Given the description of an element on the screen output the (x, y) to click on. 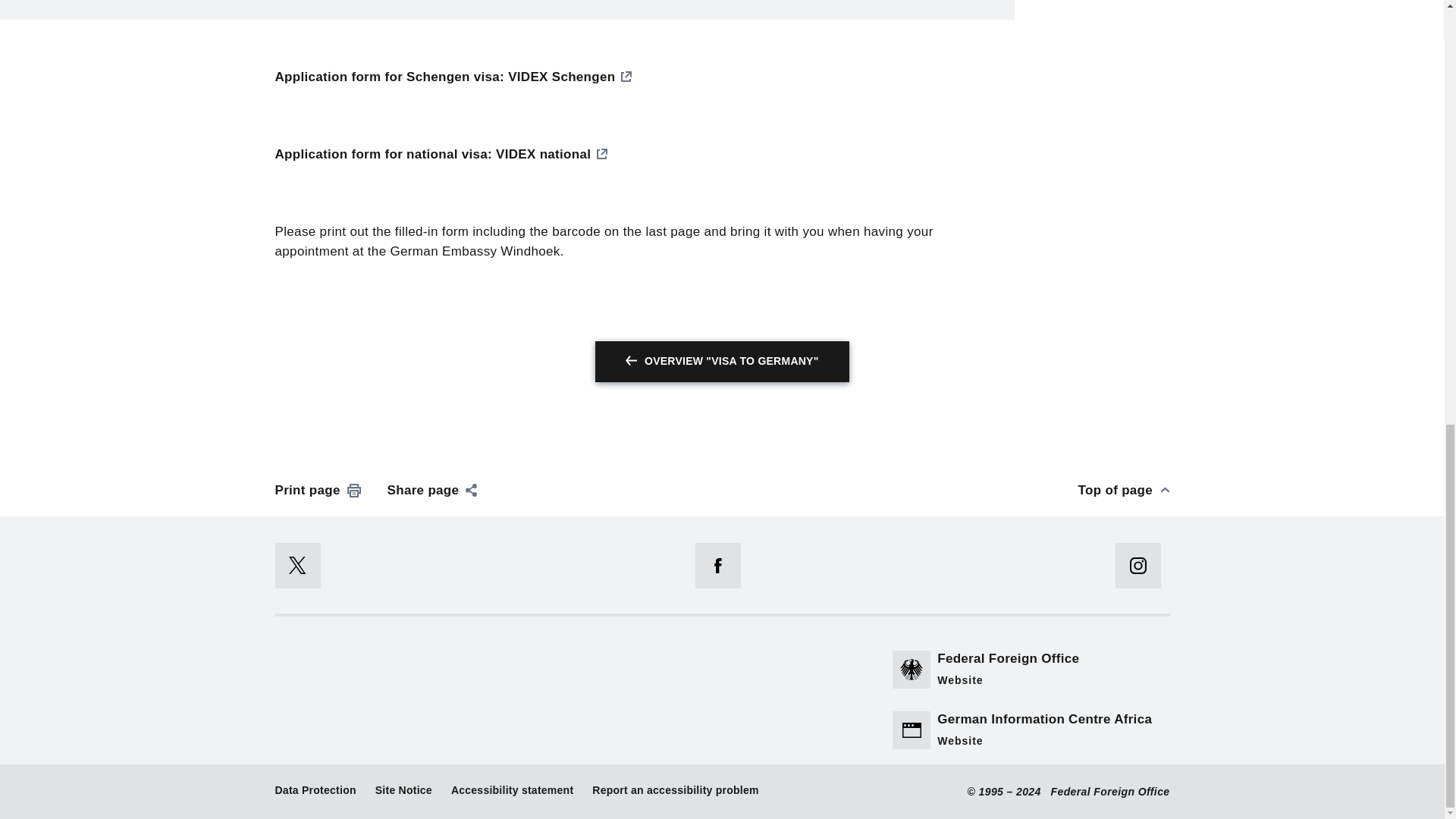
Print page (318, 490)
Overview Visa to Germany (721, 361)
Top of page (1124, 490)
